Given the description of an element on the screen output the (x, y) to click on. 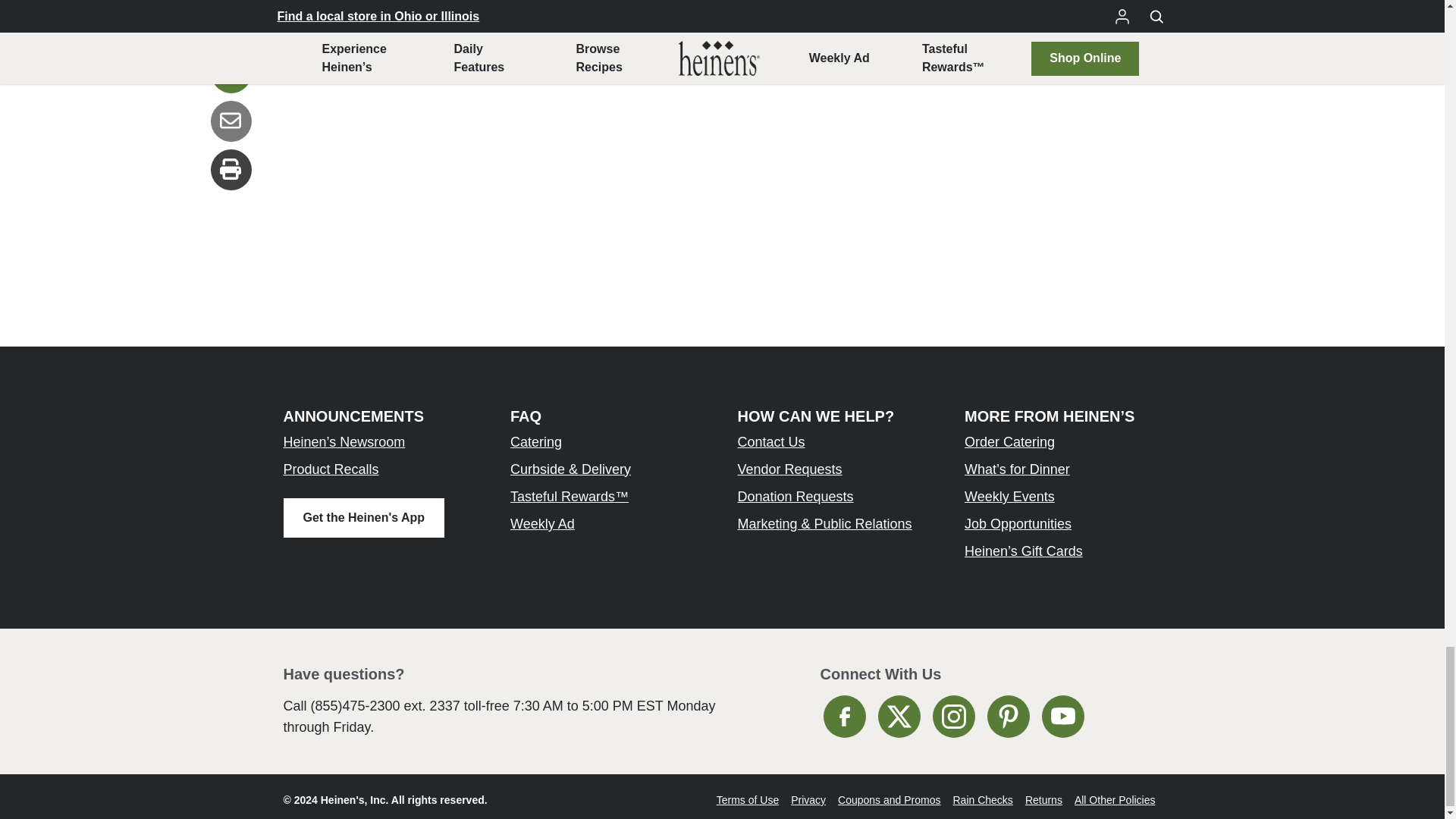
Connect with Heinen's on Instagram (954, 716)
Connect with Heinen's on X (898, 716)
Connect with Heinen's on Facebook (845, 716)
Connect with Heinen's on YouTube (1063, 716)
Connect with Heinen's on Pinterest (1008, 716)
